Given the description of an element on the screen output the (x, y) to click on. 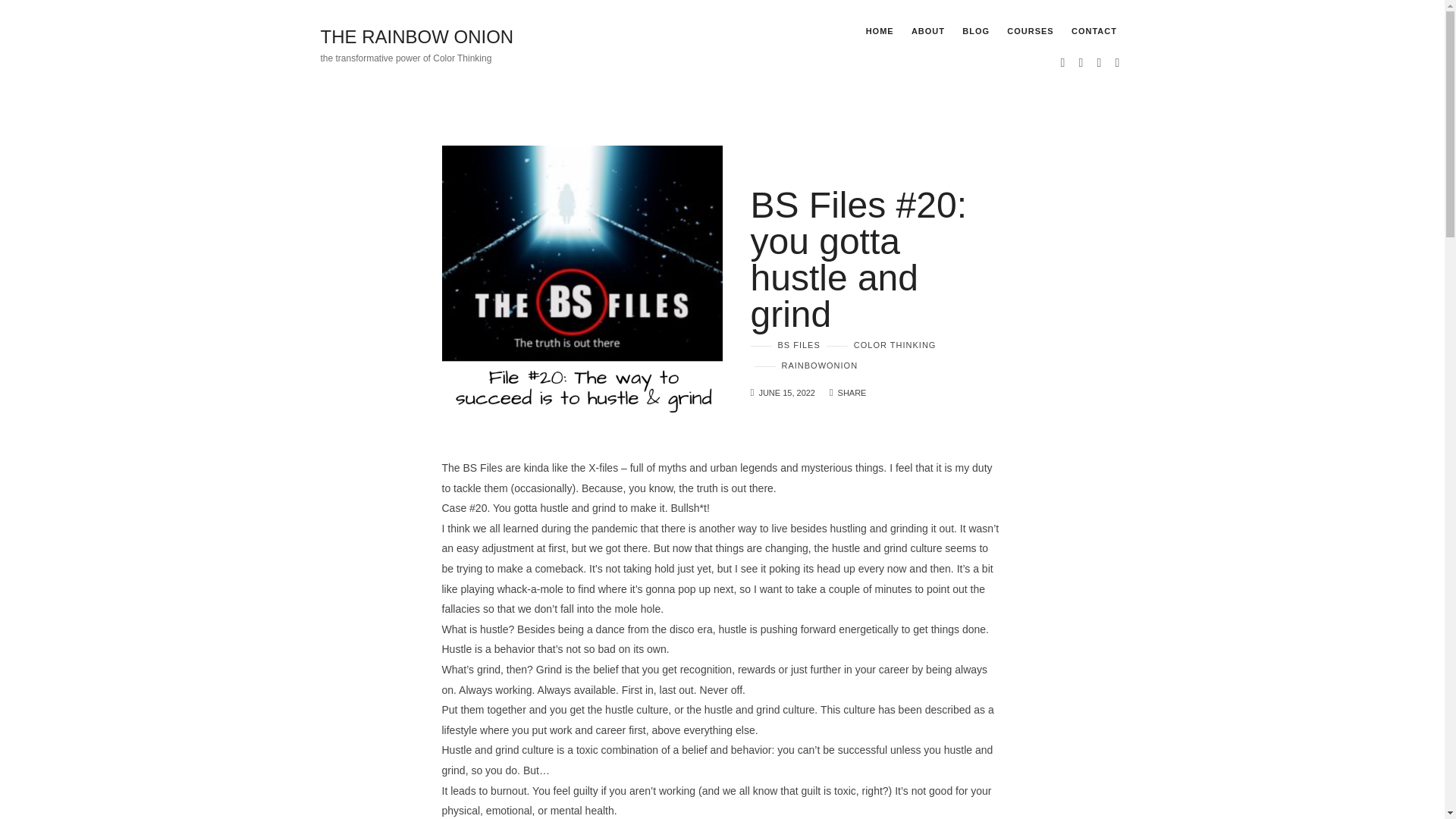
COLOR THINKING (881, 344)
ABOUT (927, 31)
HOME (879, 31)
RAINBOWONION (805, 365)
JUNE 15, 2022 (786, 392)
CONTACT (1093, 31)
BS FILES (786, 344)
COURSES (1029, 31)
BLOG (976, 31)
